Given the description of an element on the screen output the (x, y) to click on. 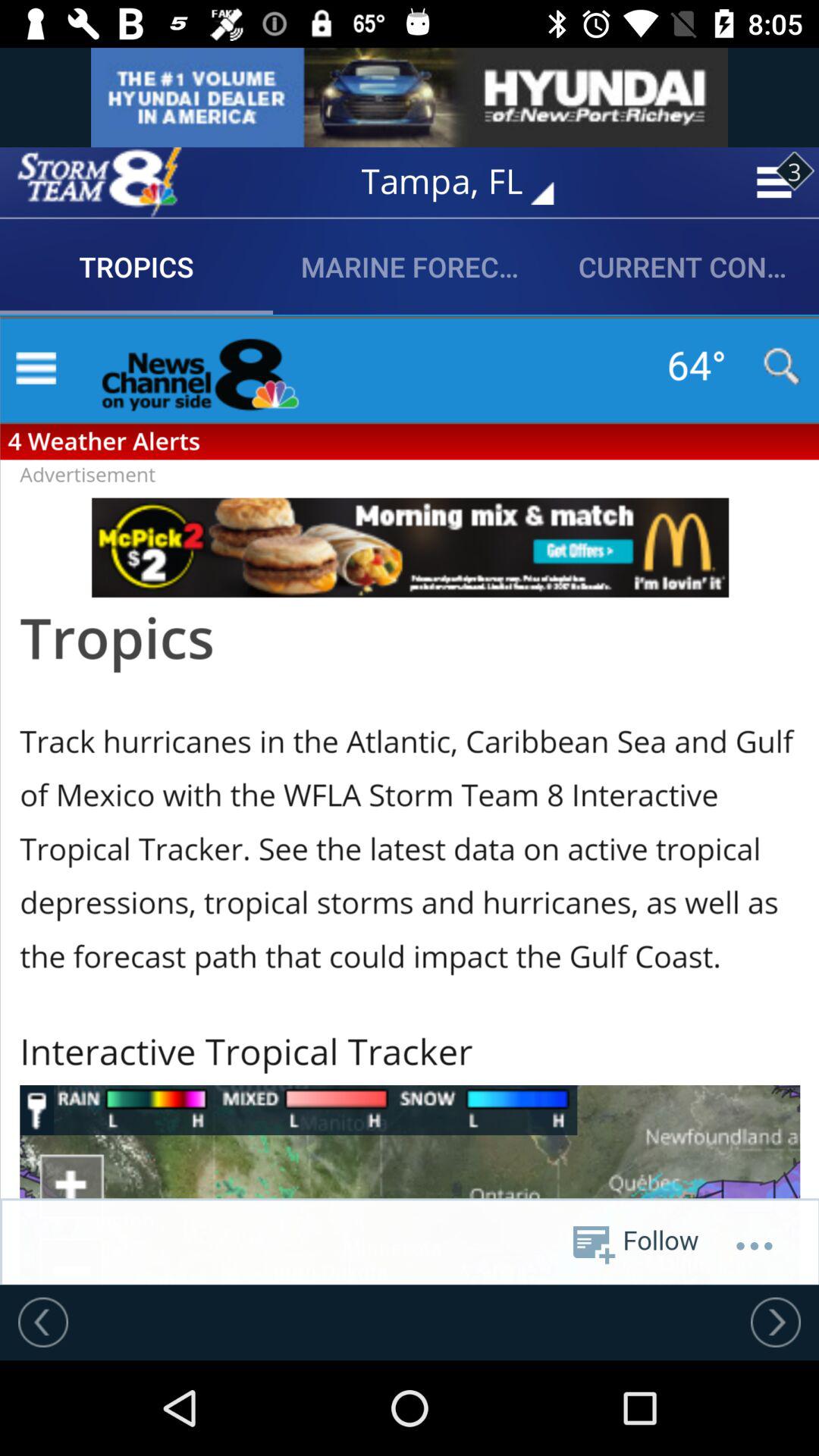
show an advertisement (409, 97)
